Given the description of an element on the screen output the (x, y) to click on. 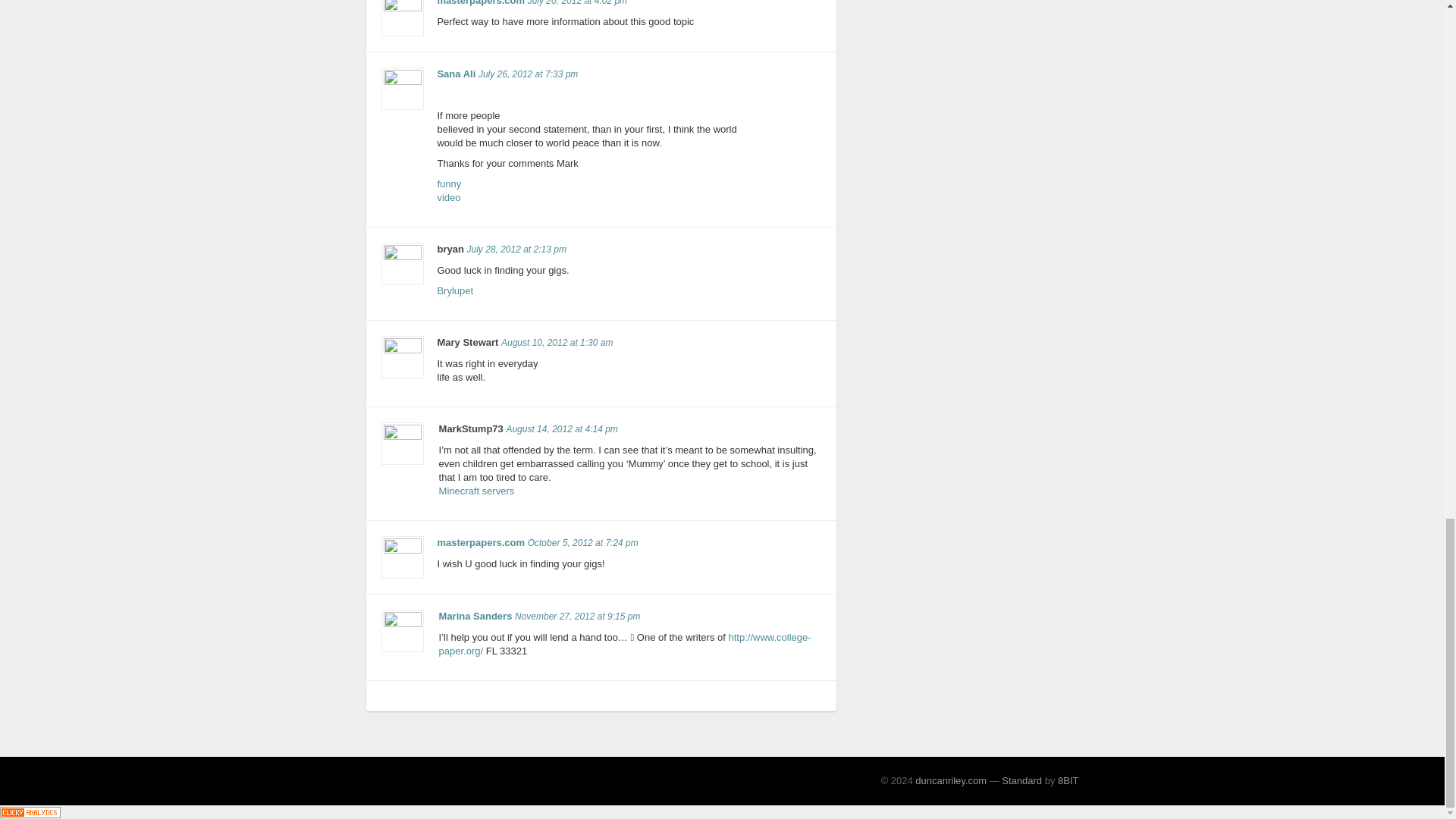
July 26, 2012 at 7:33 pm (528, 73)
Sana Ali (456, 73)
July 20, 2012 at 4:02 pm (448, 190)
July 28, 2012 at 2:13 pm (577, 2)
Brylupet (515, 249)
Minecraft servers (454, 290)
August 14, 2012 at 4:14 pm (477, 490)
masterpapers.com (561, 429)
August 10, 2012 at 1:30 am (480, 2)
